Given the description of an element on the screen output the (x, y) to click on. 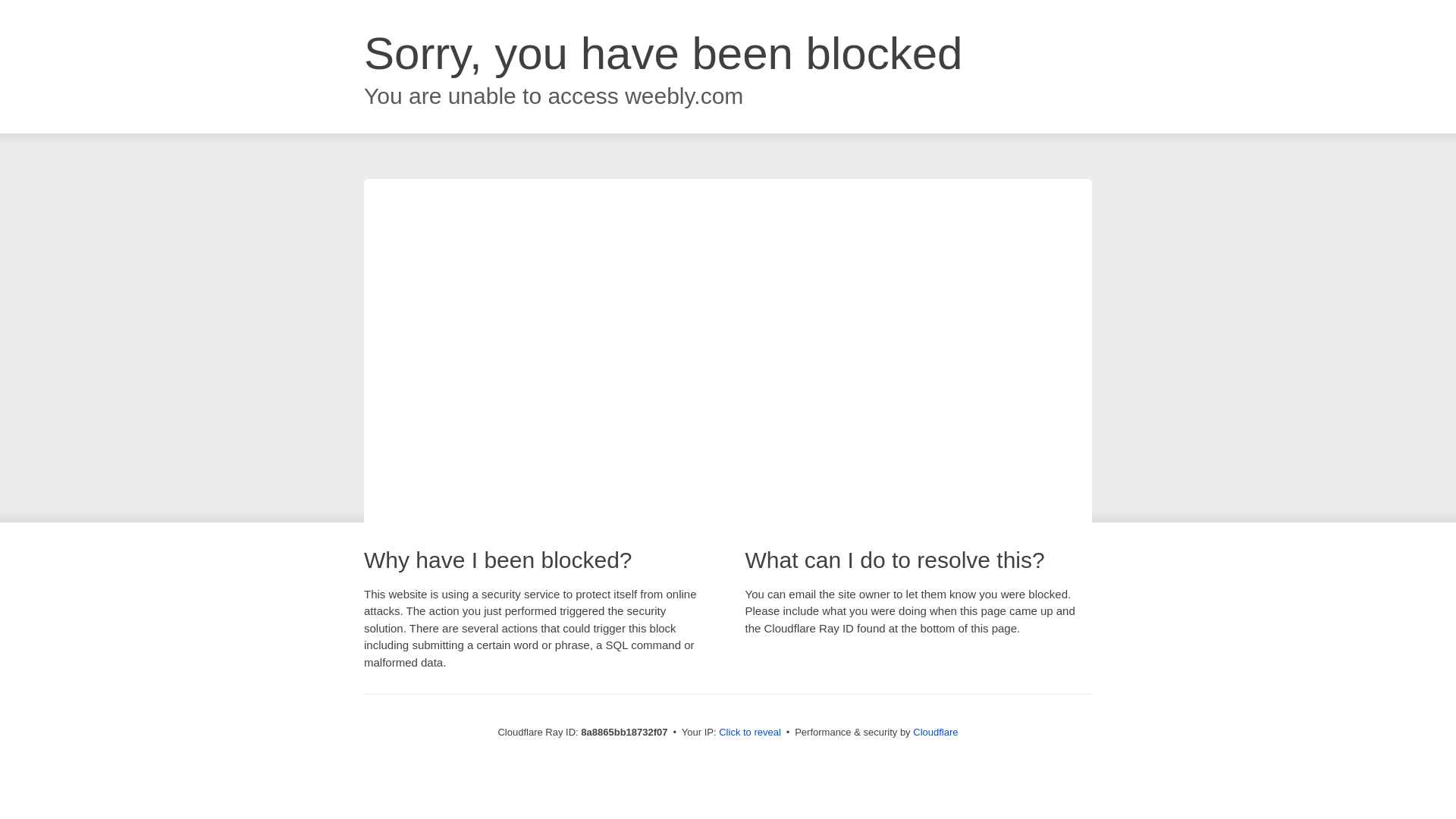
Click to reveal (749, 732)
Cloudflare (935, 731)
